Given the description of an element on the screen output the (x, y) to click on. 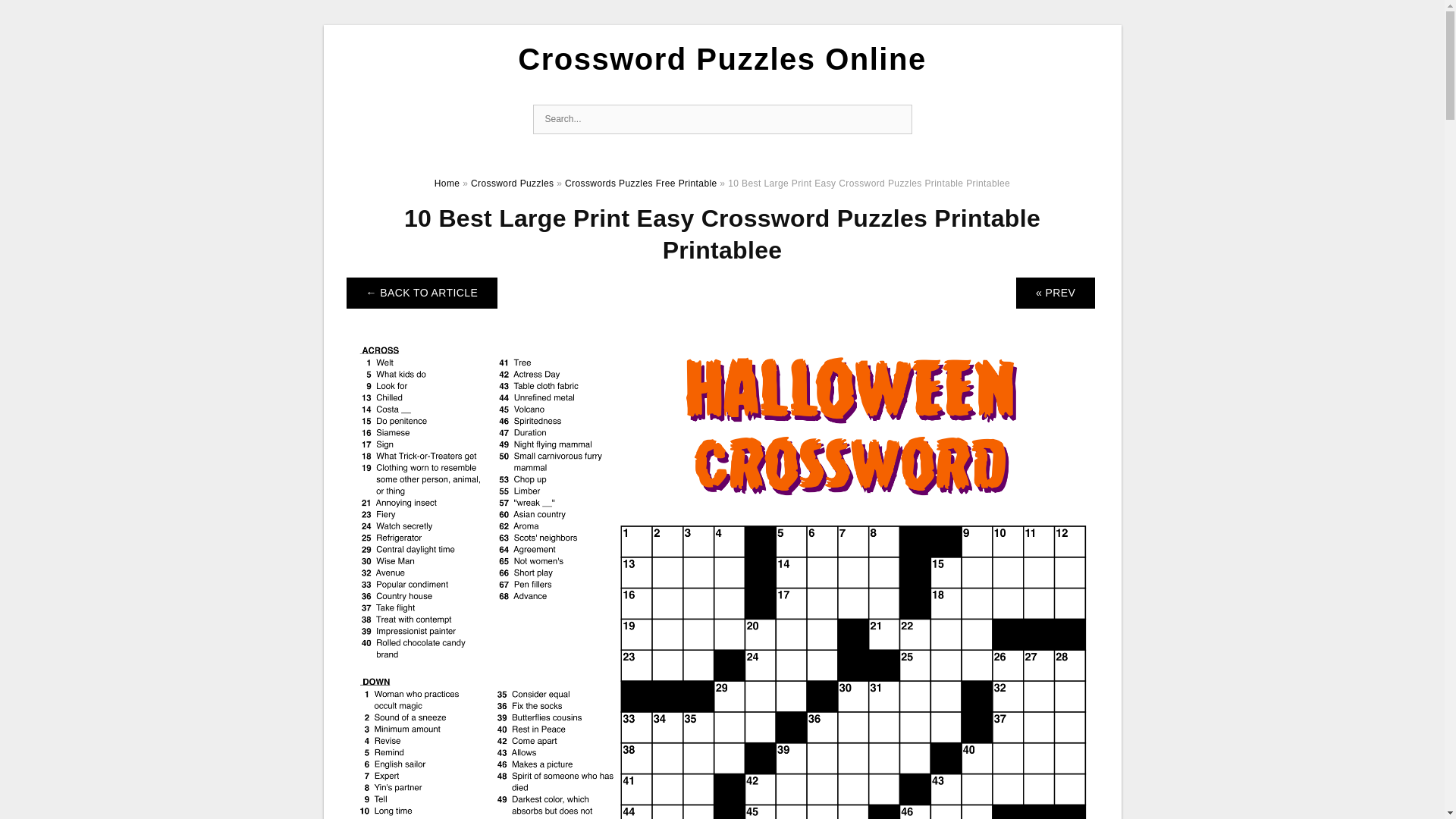
Search (895, 119)
Search (895, 119)
Home (446, 183)
Search (895, 119)
Return to Crosswords Puzzles Free Printable (421, 292)
Crossword Puzzles Online (722, 59)
Crossword Puzzles (512, 183)
Crosswords Puzzles Free Printable (640, 183)
Search for: (721, 119)
